Given the description of an element on the screen output the (x, y) to click on. 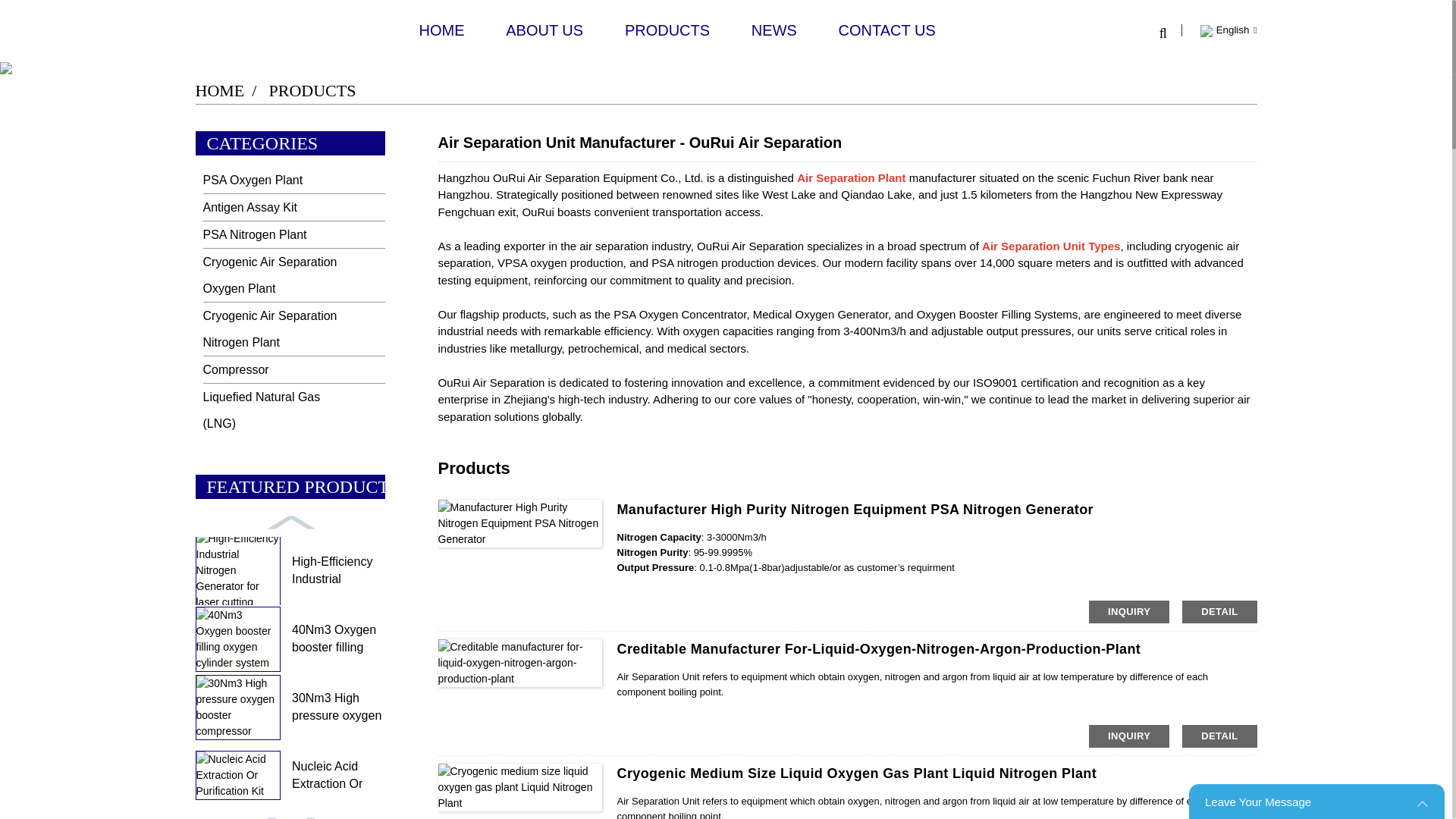
CONTACT US (887, 30)
PRODUCTS (667, 30)
ABOUT US (544, 30)
English (1226, 30)
